Given the description of an element on the screen output the (x, y) to click on. 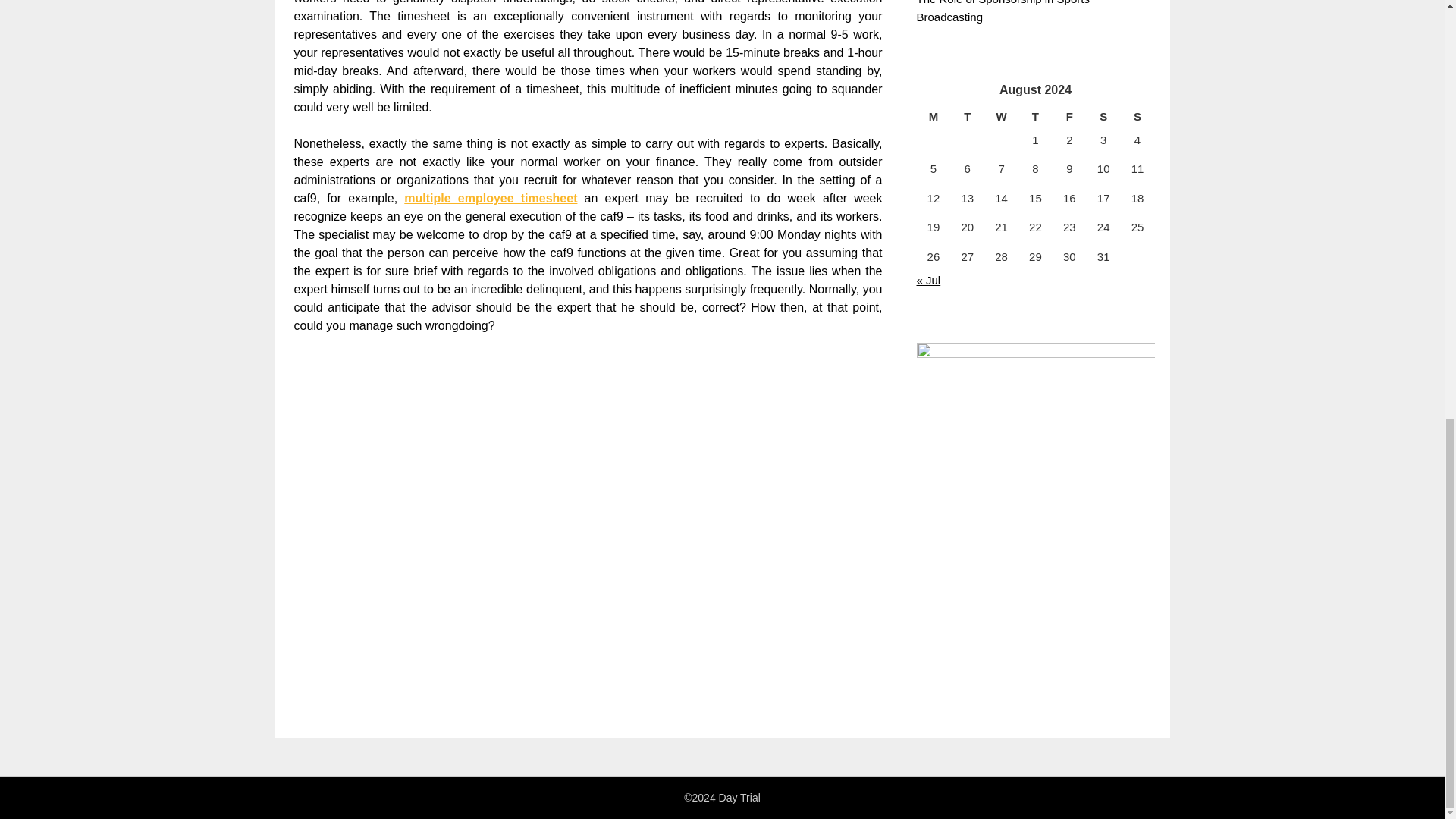
multiple employee timesheet (490, 197)
Saturday (1103, 116)
Monday (932, 116)
Friday (1069, 116)
Wednesday (1000, 116)
Sunday (1137, 116)
Thursday (1034, 116)
The Role of Sponsorship in Sports Broadcasting (1002, 11)
Tuesday (967, 116)
